Given the description of an element on the screen output the (x, y) to click on. 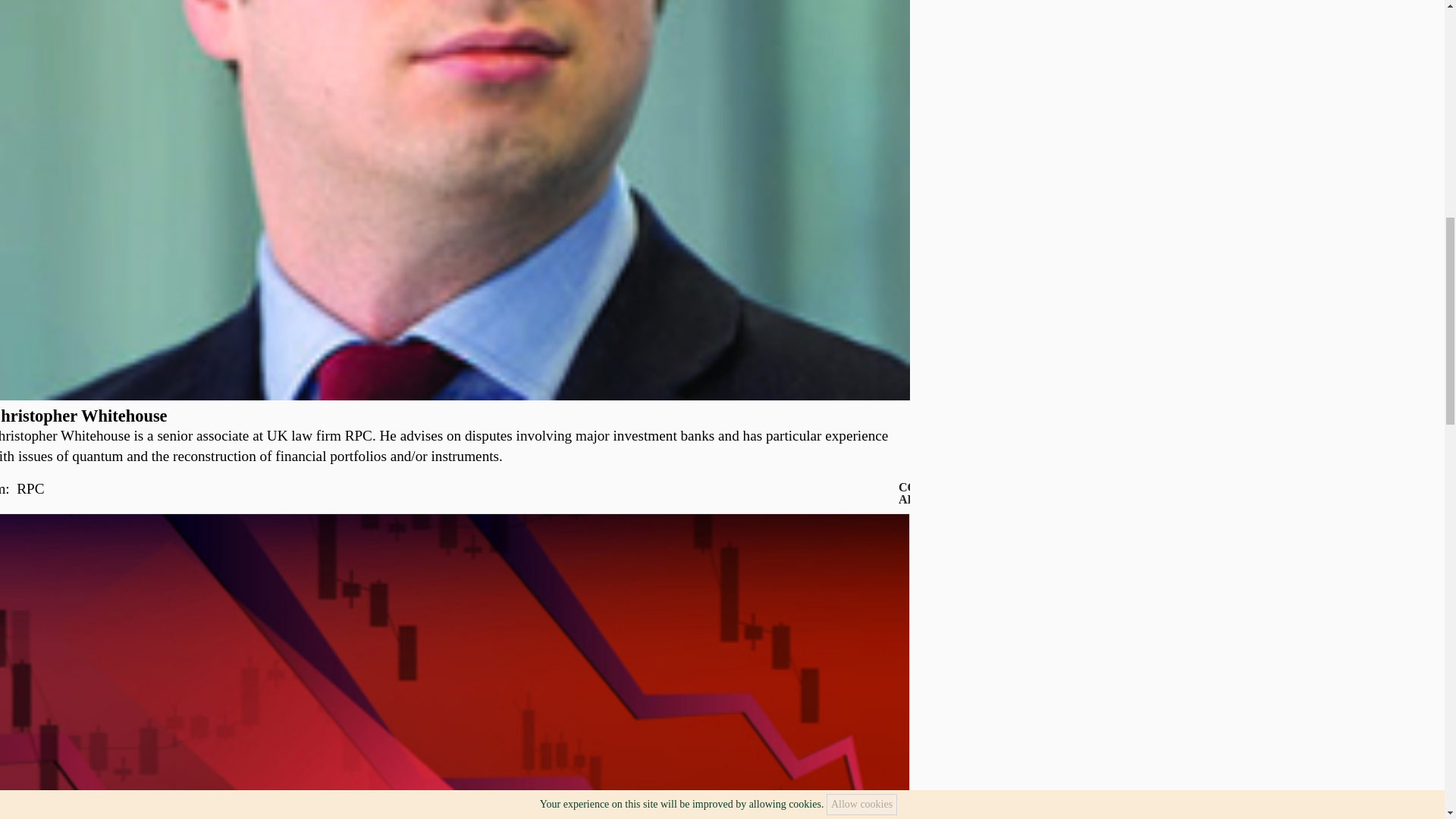
RPC (29, 488)
